Given the description of an element on the screen output the (x, y) to click on. 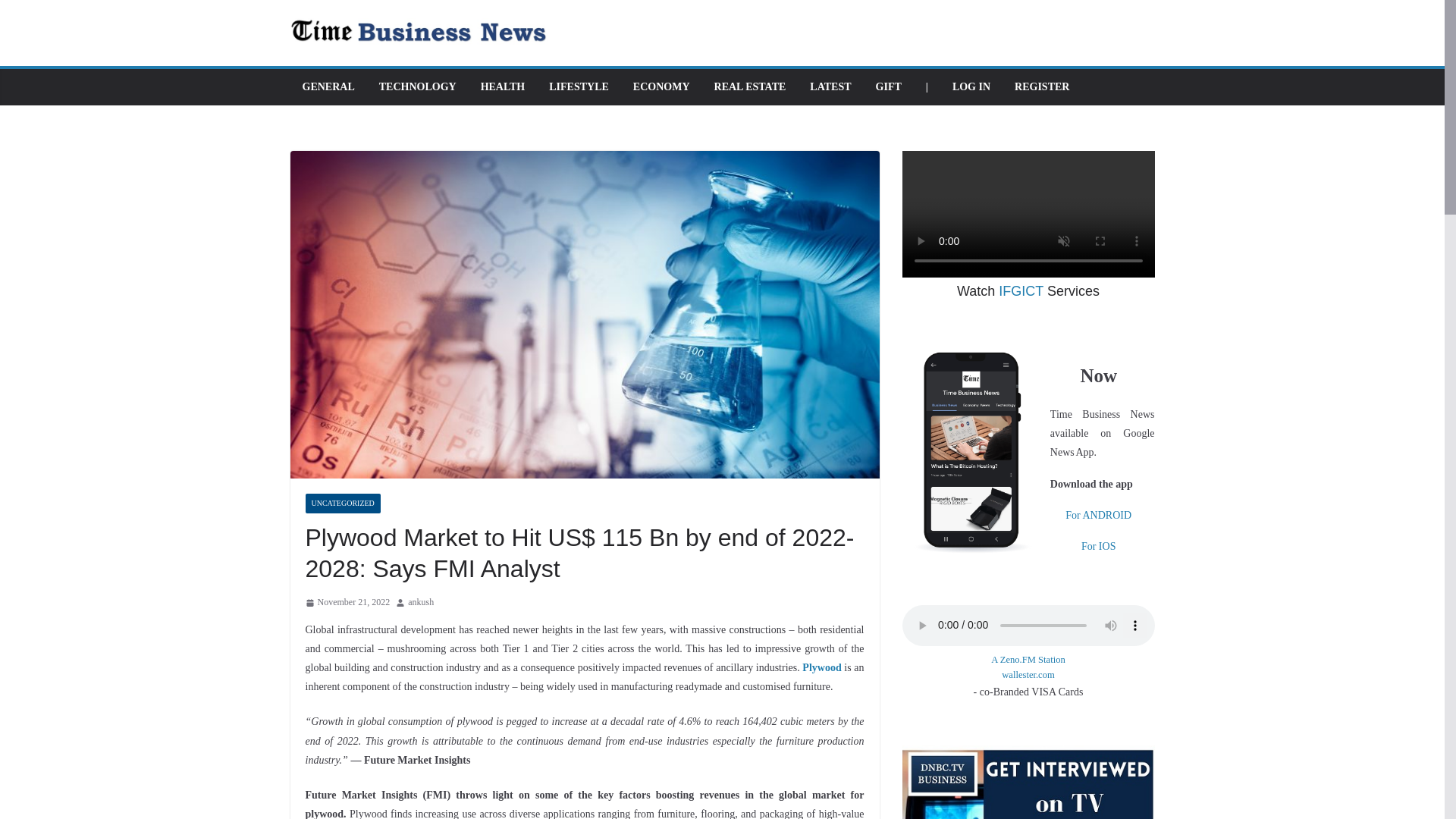
IFGICT (1020, 290)
For IOS (1098, 546)
LIFESTYLE (578, 86)
ECONOMY (661, 86)
REGISTER (1041, 86)
TECHNOLOGY (417, 86)
November 21, 2022 (347, 602)
For ANDROID (1098, 514)
A Zeno.FM Station (1028, 659)
LATEST (829, 86)
ankush (420, 602)
LOG IN (971, 86)
REAL ESTATE (750, 86)
ankush (420, 602)
wallester.com (1028, 674)
